Given the description of an element on the screen output the (x, y) to click on. 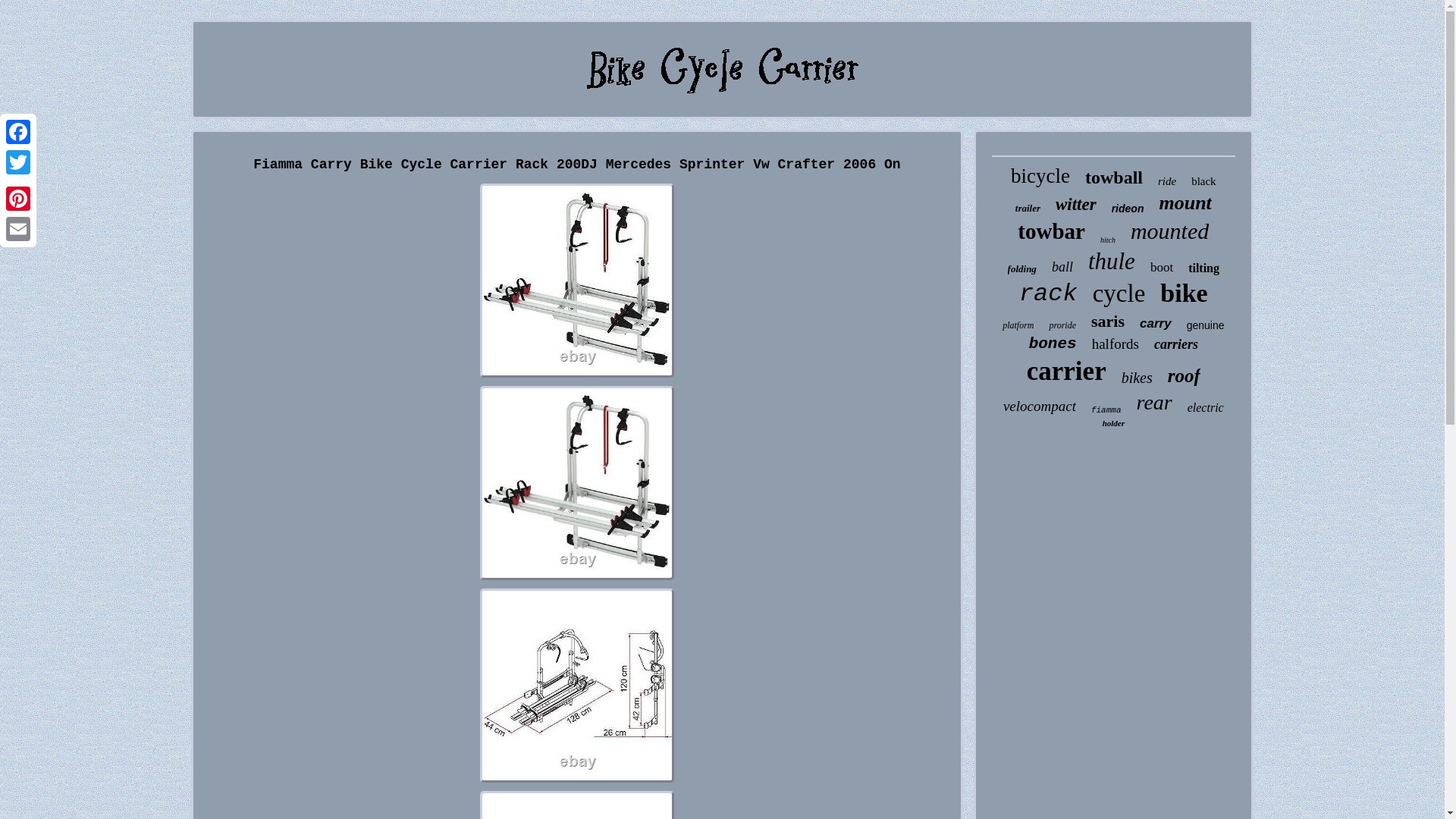
bicycle (1040, 176)
towbar (1050, 231)
folding (1021, 268)
bike (1183, 293)
halfords (1115, 343)
black (1203, 181)
carrier (1066, 371)
ball (1062, 267)
genuine (1205, 325)
